Given the description of an element on the screen output the (x, y) to click on. 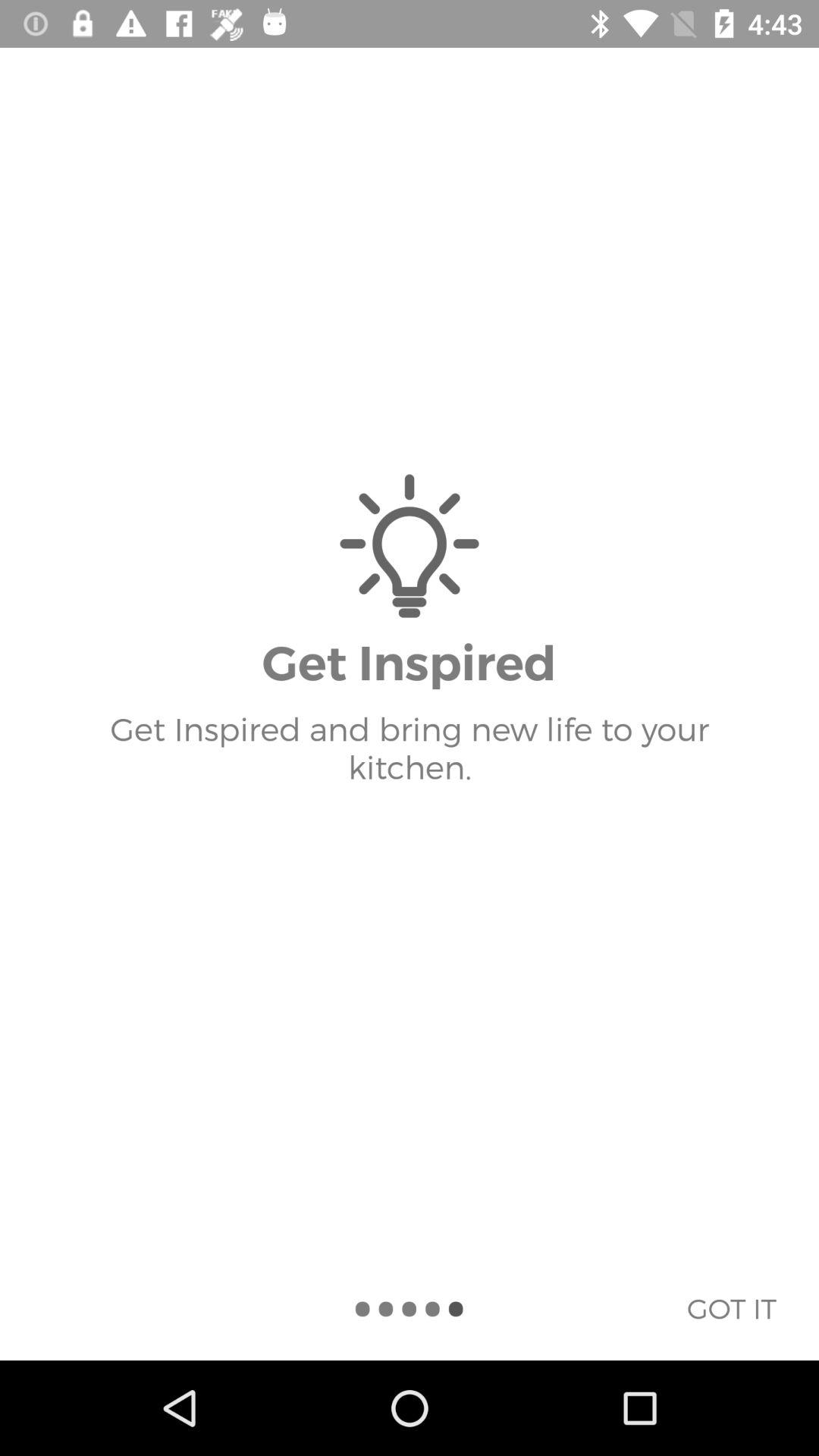
flip until the got it (731, 1308)
